Given the description of an element on the screen output the (x, y) to click on. 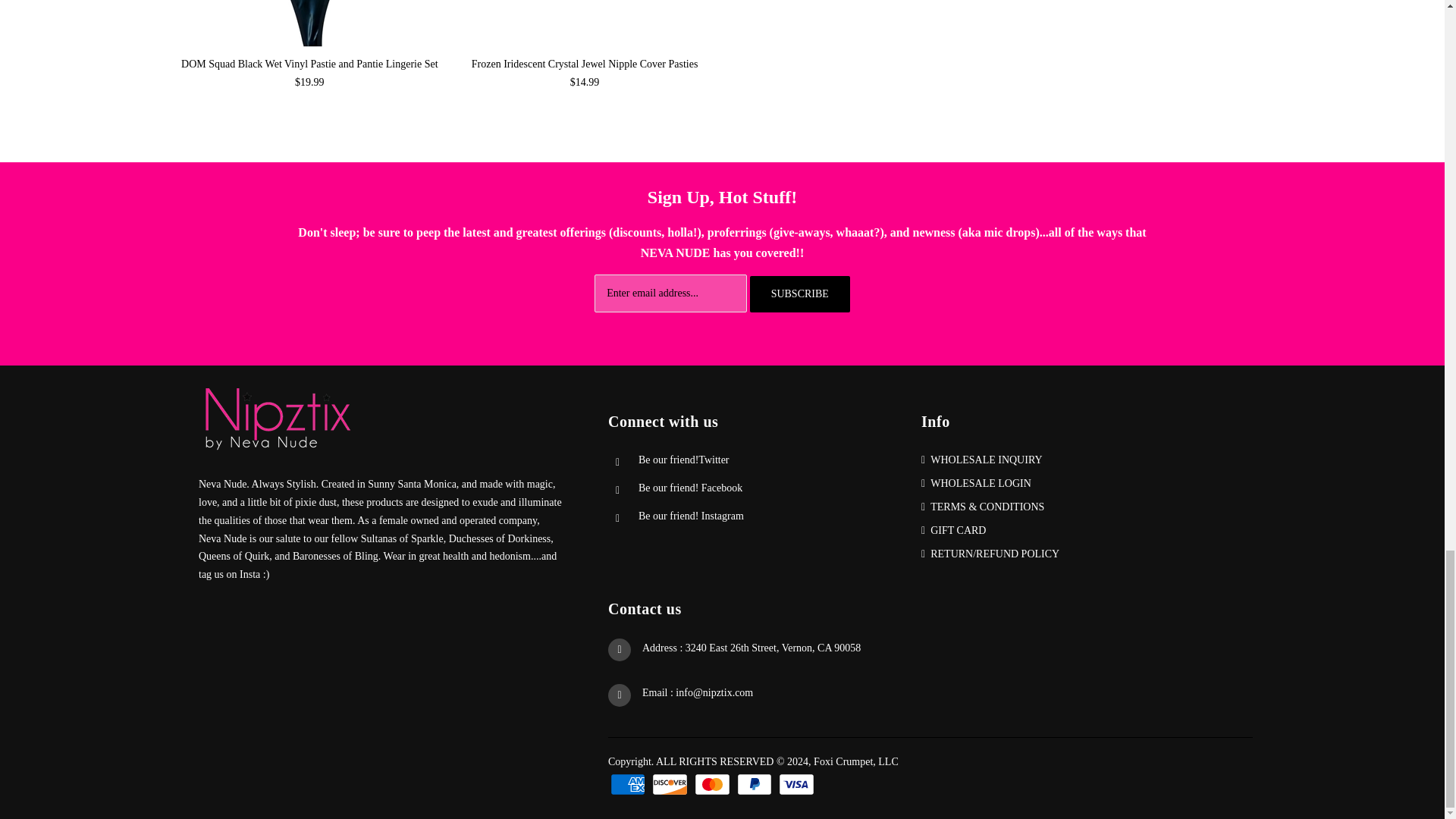
Twitter (684, 460)
Instagram (691, 515)
Subscribe (799, 294)
Facebook (690, 487)
